Given the description of an element on the screen output the (x, y) to click on. 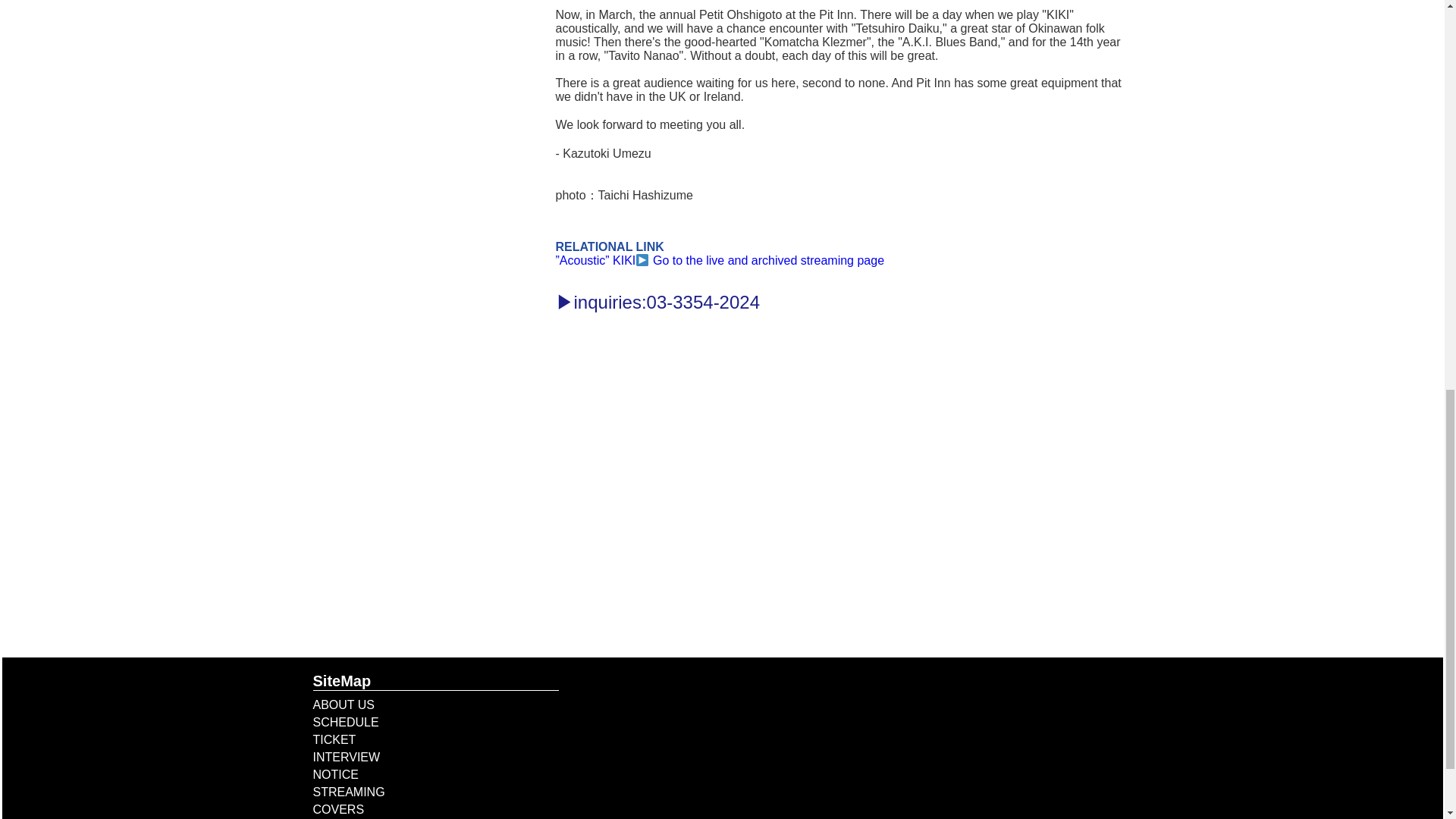
SCHEDULE (345, 721)
TICKET (334, 739)
NOTICE (335, 774)
ABOUT US (343, 704)
INTERVIEW (346, 757)
STREAMING (348, 791)
COVERS (338, 809)
